Given the description of an element on the screen output the (x, y) to click on. 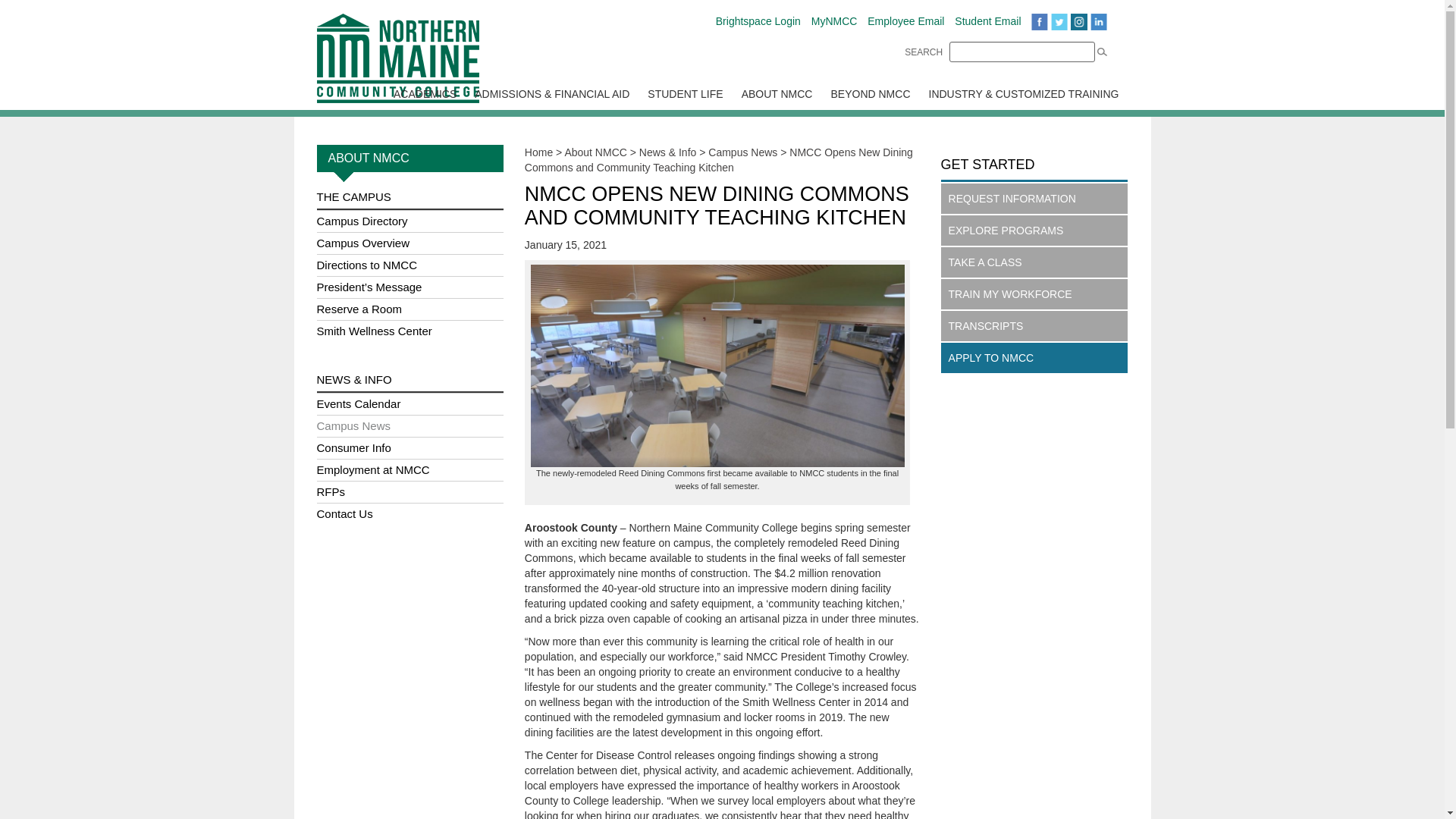
Student Email (987, 21)
Go to About NMCC. (595, 152)
Employee Email (905, 21)
MyNMCC (833, 21)
Follow us on Twitter (1059, 21)
Connect with us on Facebook (1039, 21)
Follow us on Instagram (1078, 21)
Connect with us on Linkedin (1098, 21)
Go to Northern Maine Community College. (538, 152)
Go to Campus News. (742, 152)
Search (1021, 51)
Brightspace Login (758, 21)
